Given the description of an element on the screen output the (x, y) to click on. 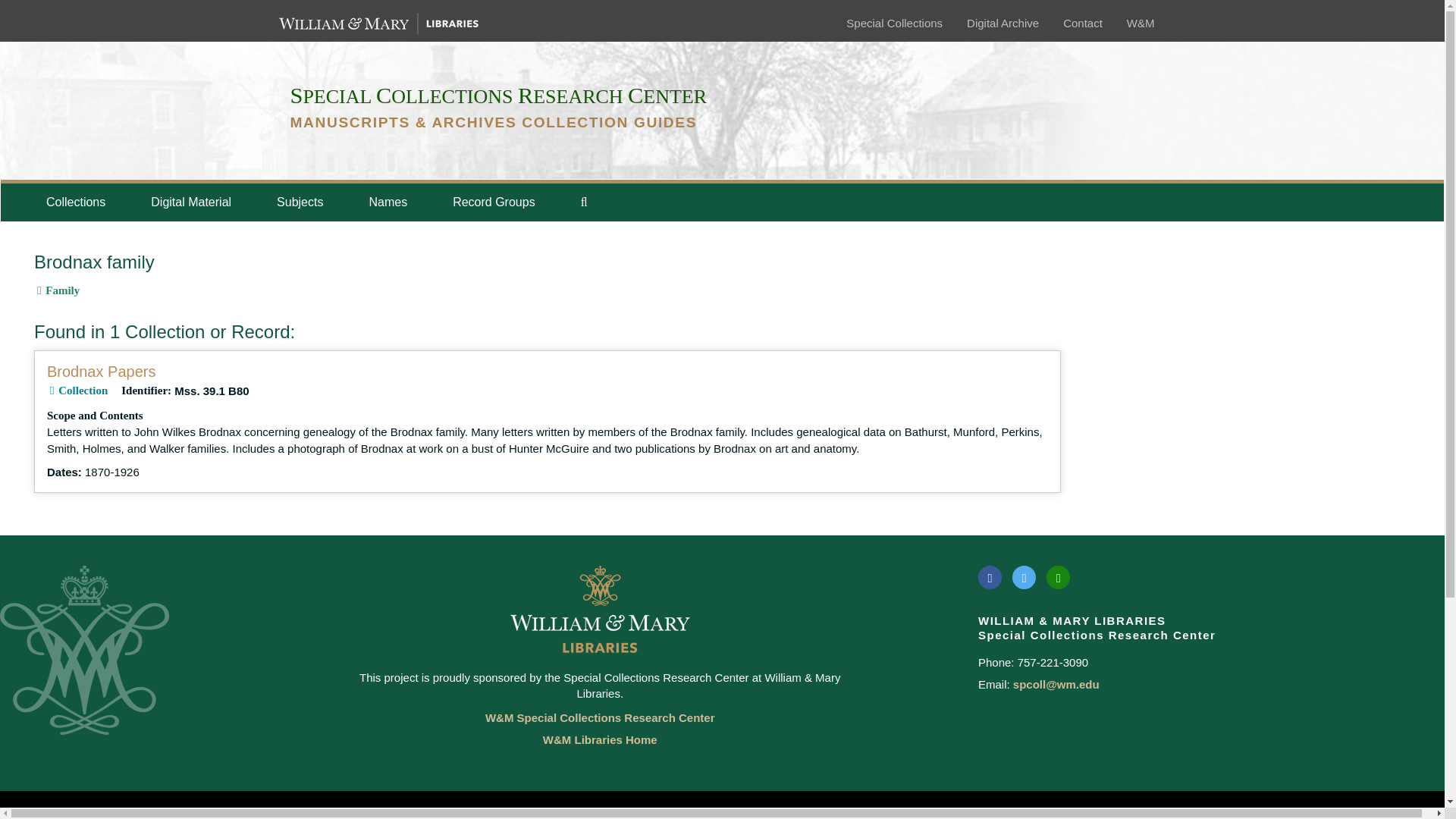
SPECIAL COLLECTIONS RESEARCH CENTER (497, 96)
Collections (75, 202)
Brodnax Papers (100, 371)
Special Collections Twitter (1023, 576)
Special Collections Facebook (989, 576)
Names (387, 202)
Subjects (299, 202)
Page Actions (1130, 245)
Digital Archive (1002, 23)
Search The Archives (583, 202)
Special Collections Blog (1058, 576)
Special Collections (893, 23)
Contact (1082, 23)
Record Groups (493, 202)
Search The Archives (583, 202)
